Given the description of an element on the screen output the (x, y) to click on. 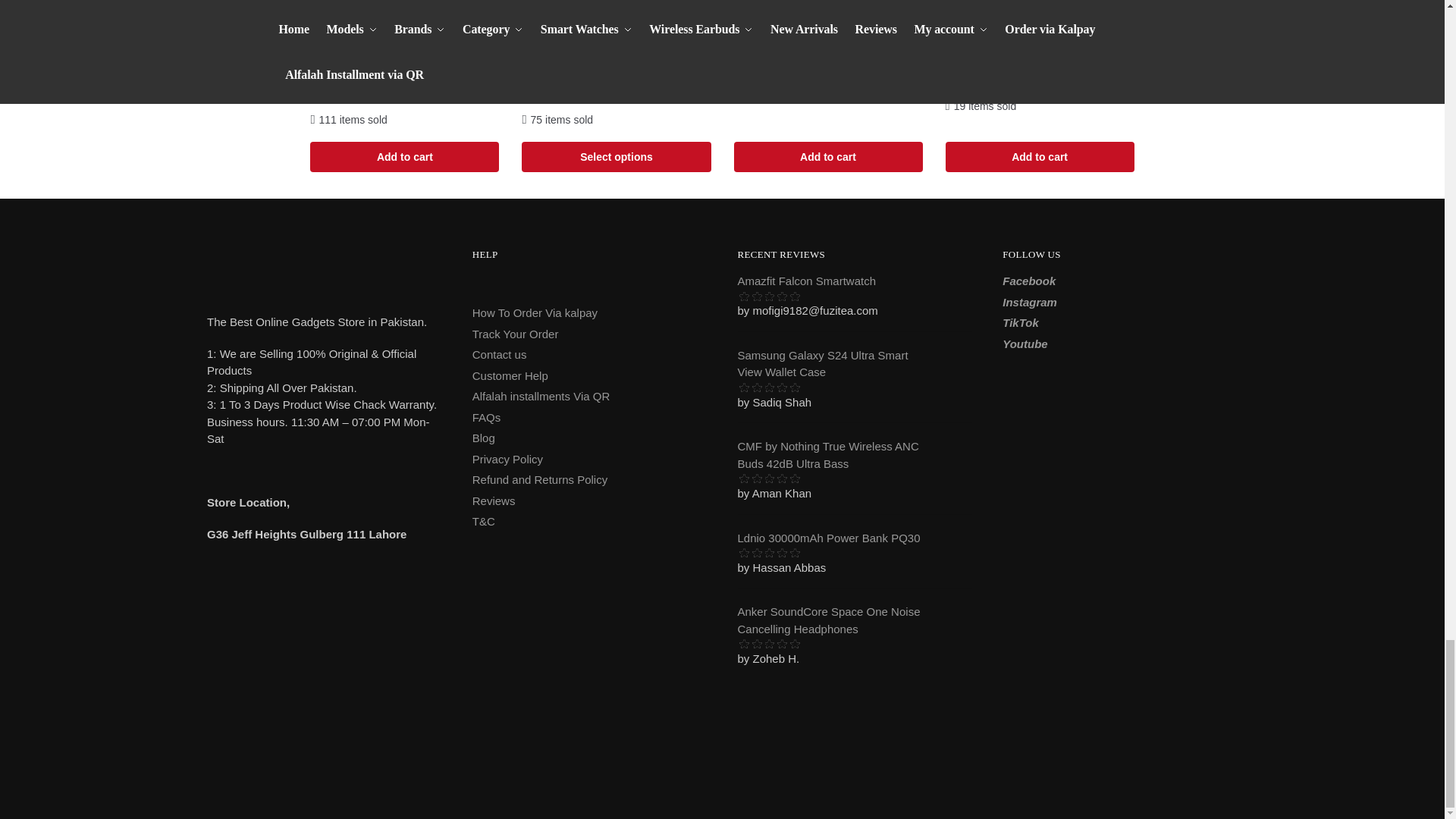
Official S View Cover For Samsung Galaxy S21 Ultra (615, 14)
Anker Soundcore Flare 2 Portable Bluetooth 360 Speaker (1039, 14)
Apple MagSafe Wireless Duo Charger (828, 14)
OnePlus Original Warp Charging Type C Cable (404, 14)
